Given the description of an element on the screen output the (x, y) to click on. 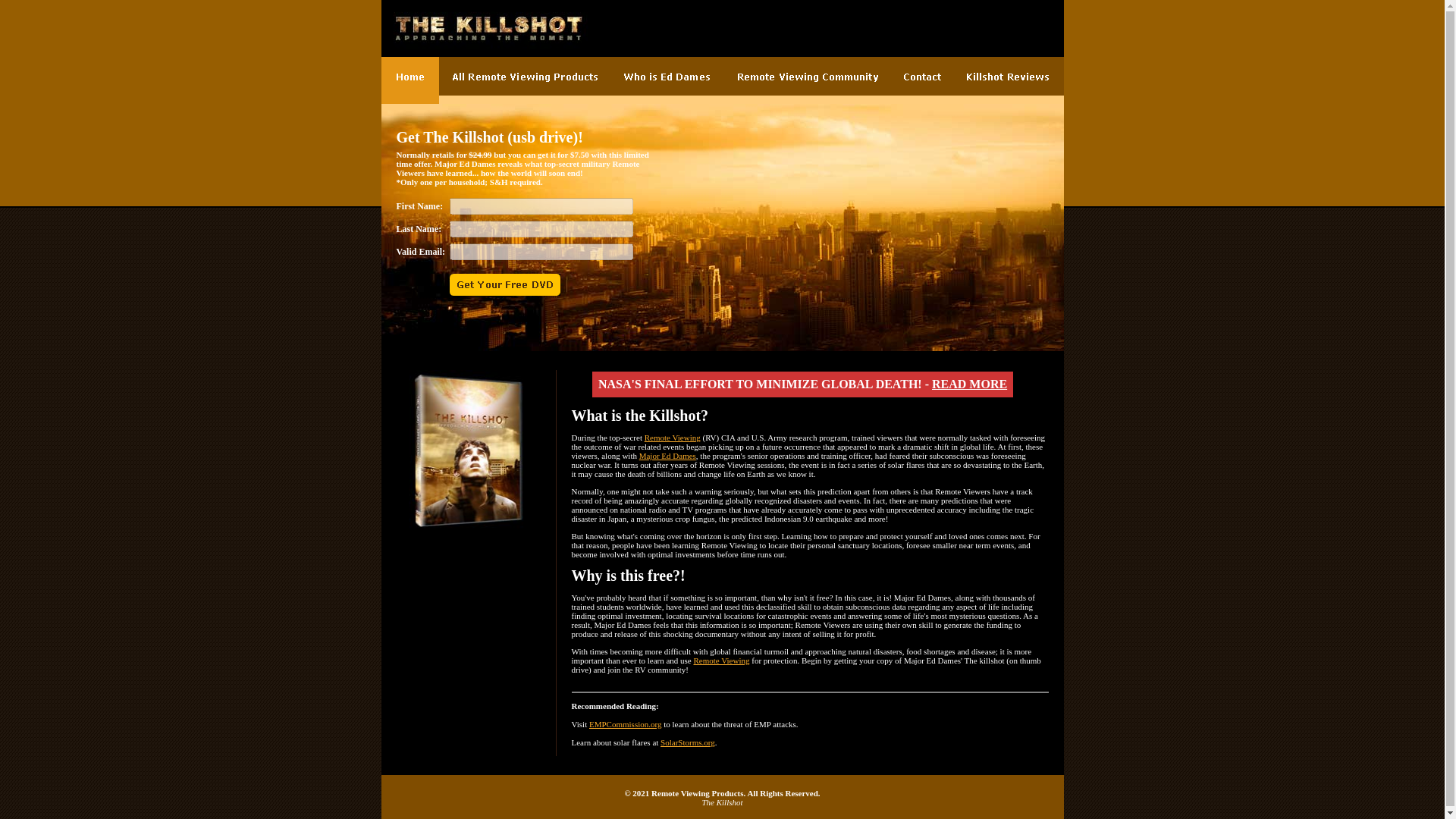
Major Ed Dames (667, 455)
Remote Viewing (672, 437)
EMPCommission.org (625, 723)
READ MORE (969, 383)
SolarStorms.org (687, 741)
Remote Viewing (721, 660)
